Given the description of an element on the screen output the (x, y) to click on. 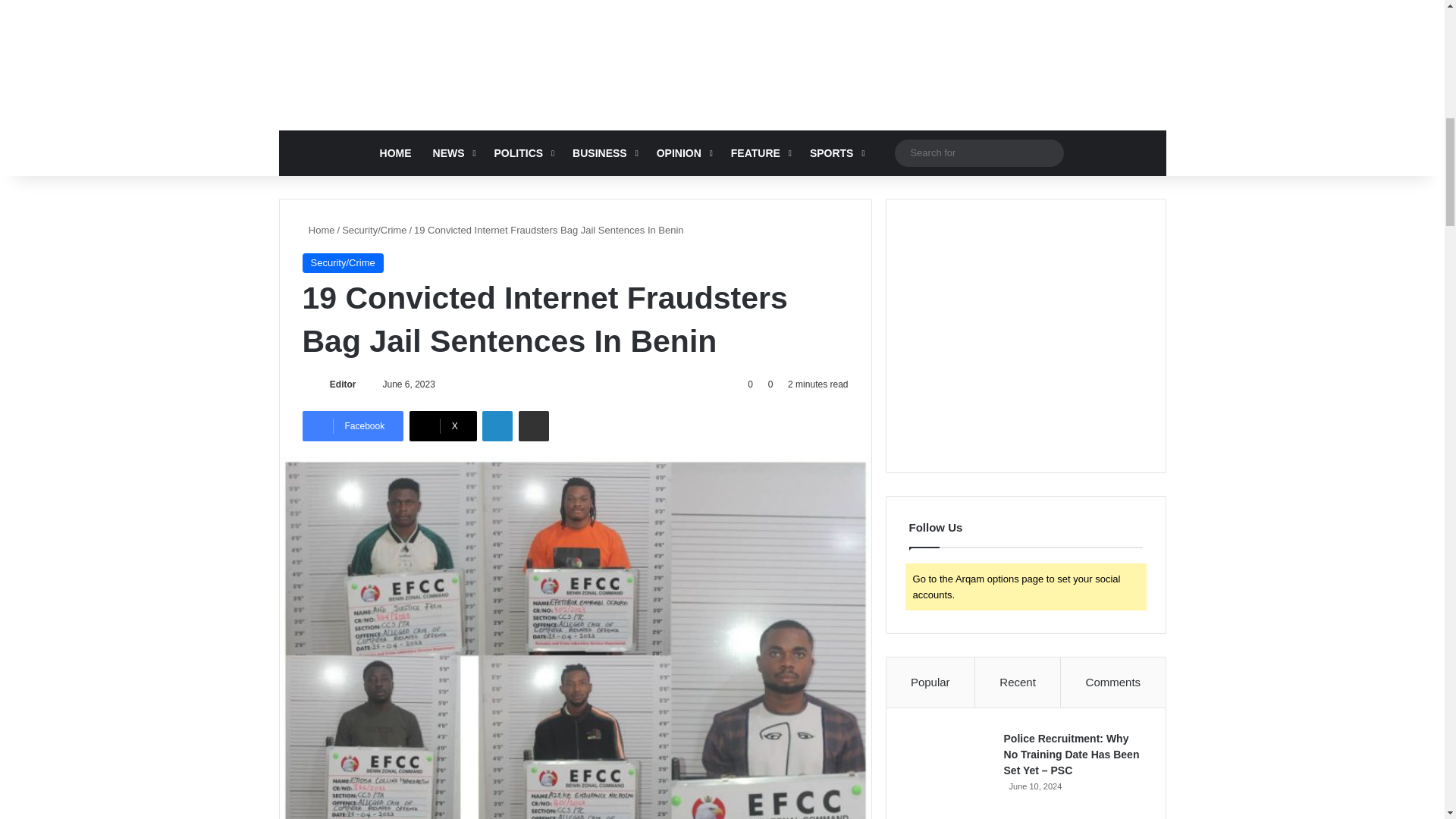
Editor (343, 384)
NEWS (452, 153)
Search for (979, 152)
POLITICS (522, 153)
Share via Email (533, 426)
X (443, 426)
TheFact Daily (722, 49)
HOME (395, 153)
LinkedIn (496, 426)
Facebook (352, 426)
